Given the description of an element on the screen output the (x, y) to click on. 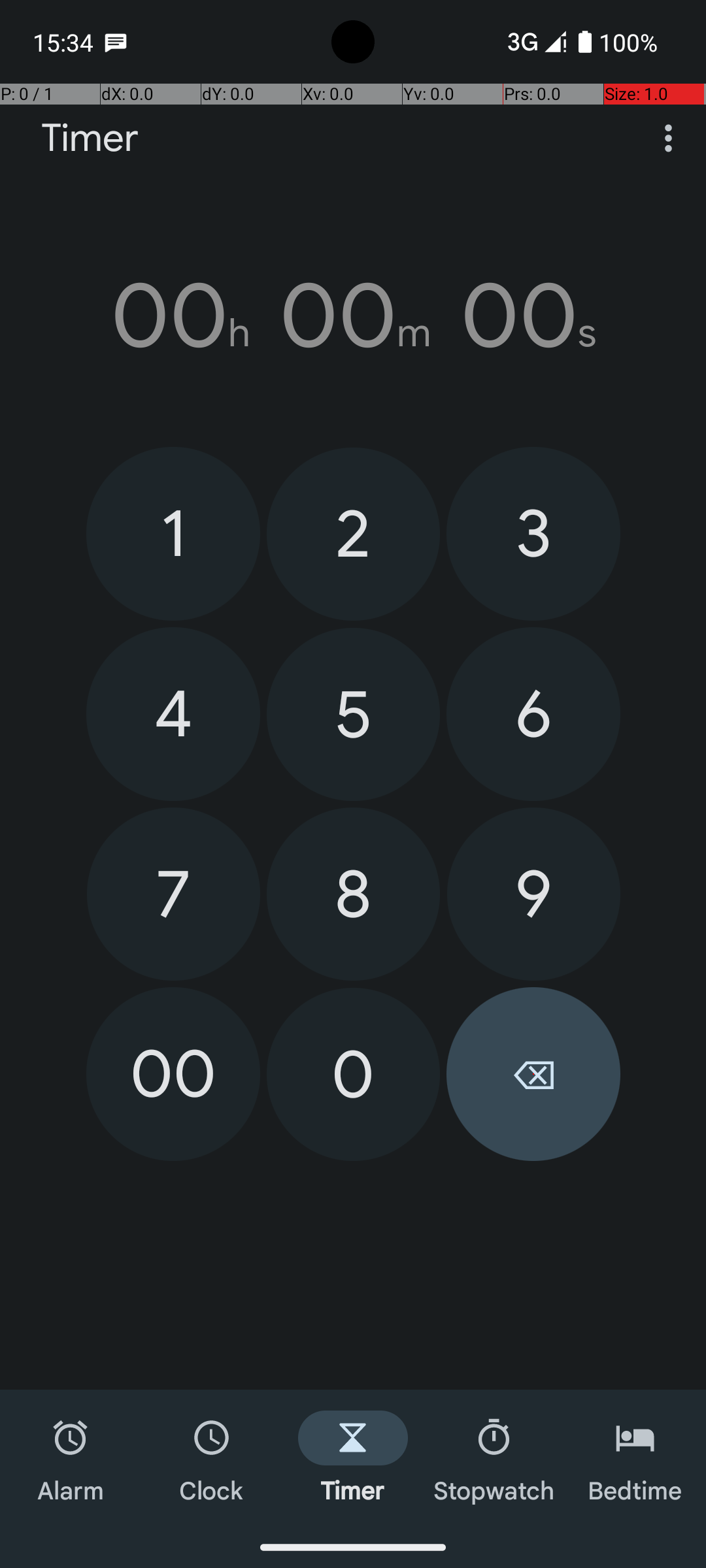
00h 00m 00s Element type: android.widget.TextView (353, 315)
⌫ Element type: android.widget.Button (533, 1073)
SMS Messenger notification: Matteo Ibrahim Element type: android.widget.ImageView (115, 41)
